Given the description of an element on the screen output the (x, y) to click on. 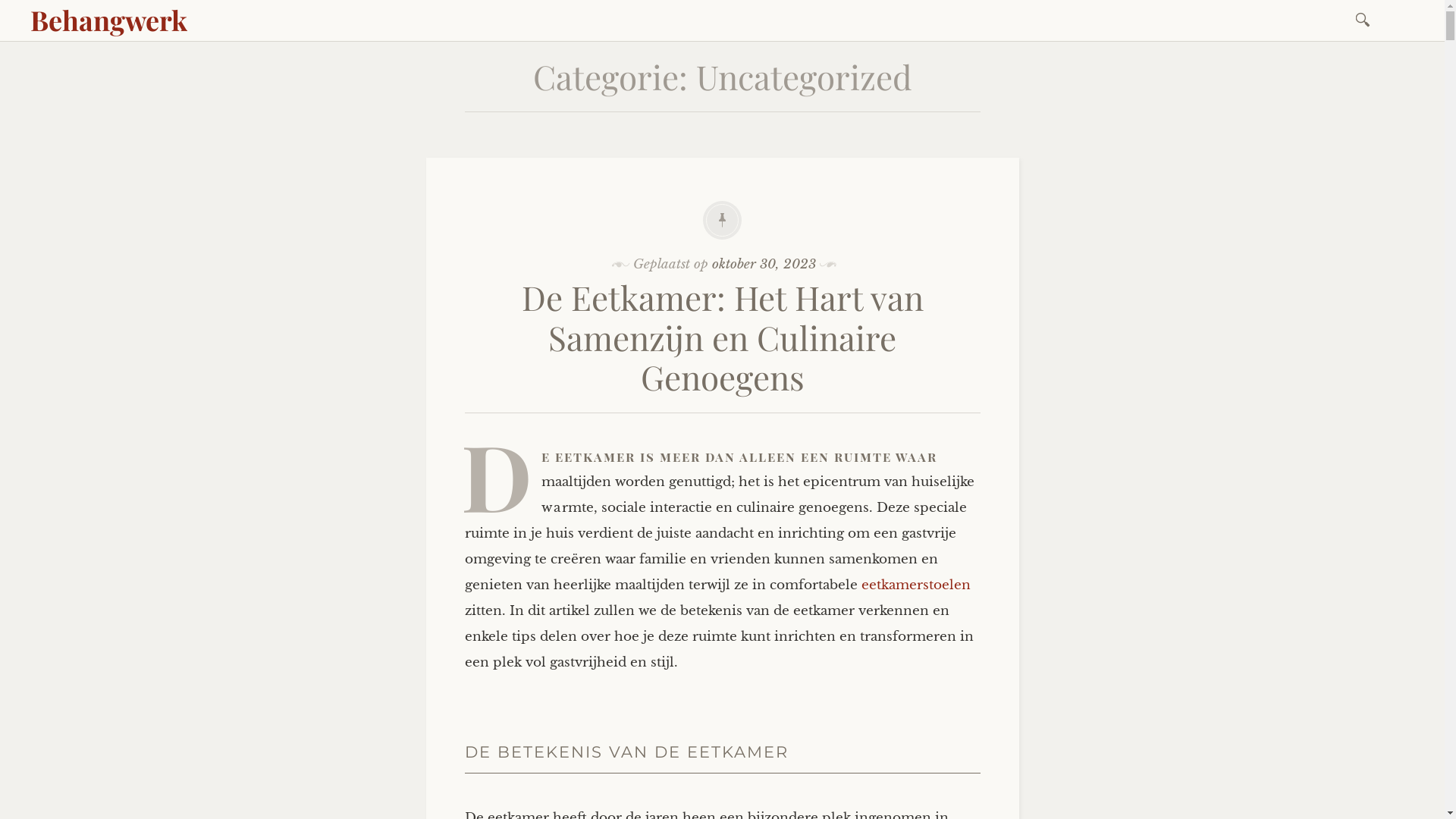
eetkamerstoelen Element type: text (915, 585)
Behangwerk Element type: text (108, 19)
Zoeken Element type: text (11, 9)
De Eetkamer: Het Hart van Samenzijn en Culinaire Genoegens Element type: text (722, 336)
oktober 30, 2023 Element type: text (763, 264)
Naar de inhoud springen Element type: text (1361, 54)
